Given the description of an element on the screen output the (x, y) to click on. 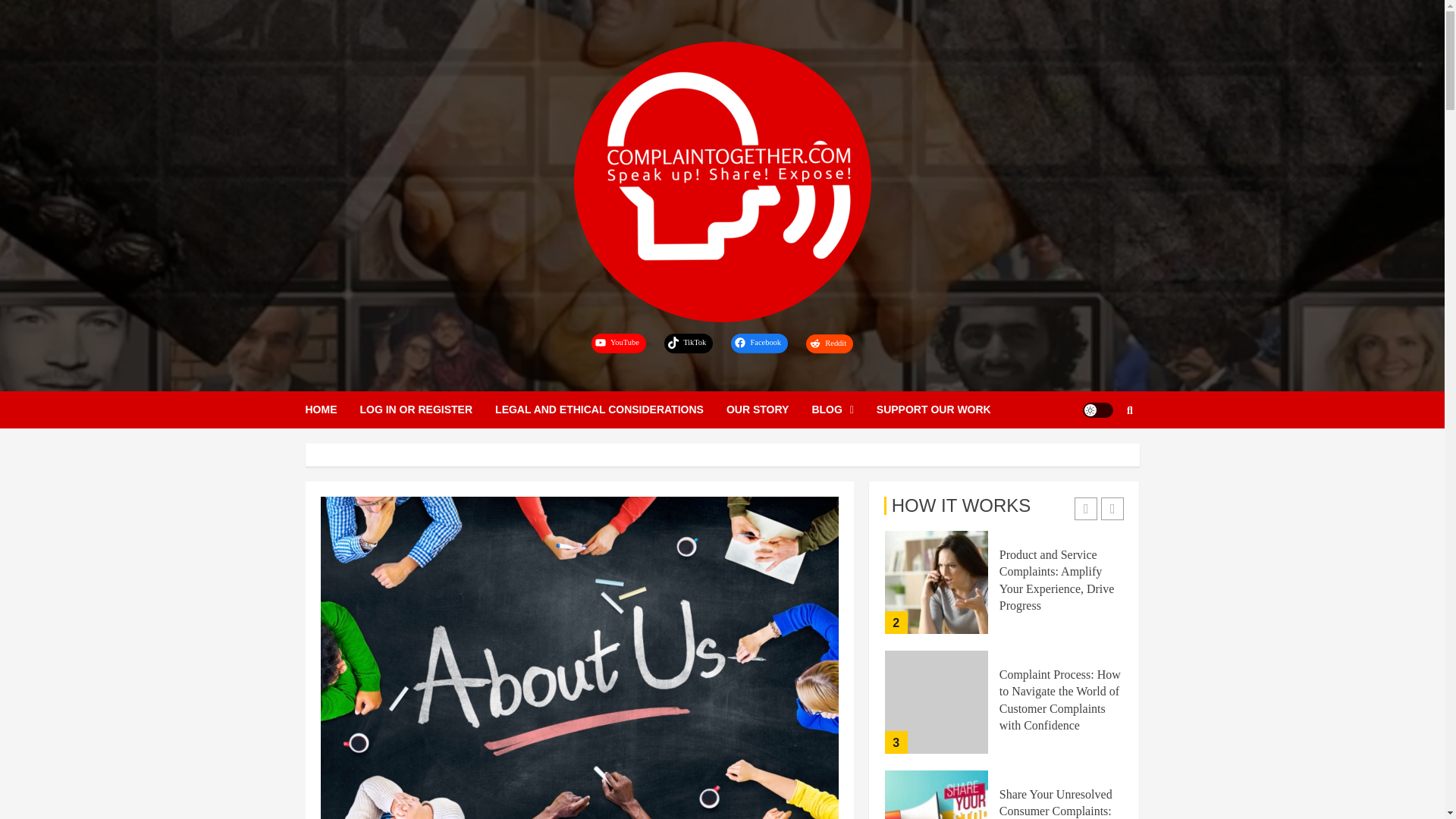
Reddit (829, 342)
SUPPORT OUR WORK (933, 409)
HOME (331, 409)
TikTok (688, 342)
Facebook (758, 342)
LEGAL AND ETHICAL CONSIDERATIONS (610, 409)
LOG IN OR REGISTER (427, 409)
YouTube (618, 342)
BLOG (843, 409)
Search (1130, 410)
OUR STORY (768, 409)
Search (1099, 455)
